Given the description of an element on the screen output the (x, y) to click on. 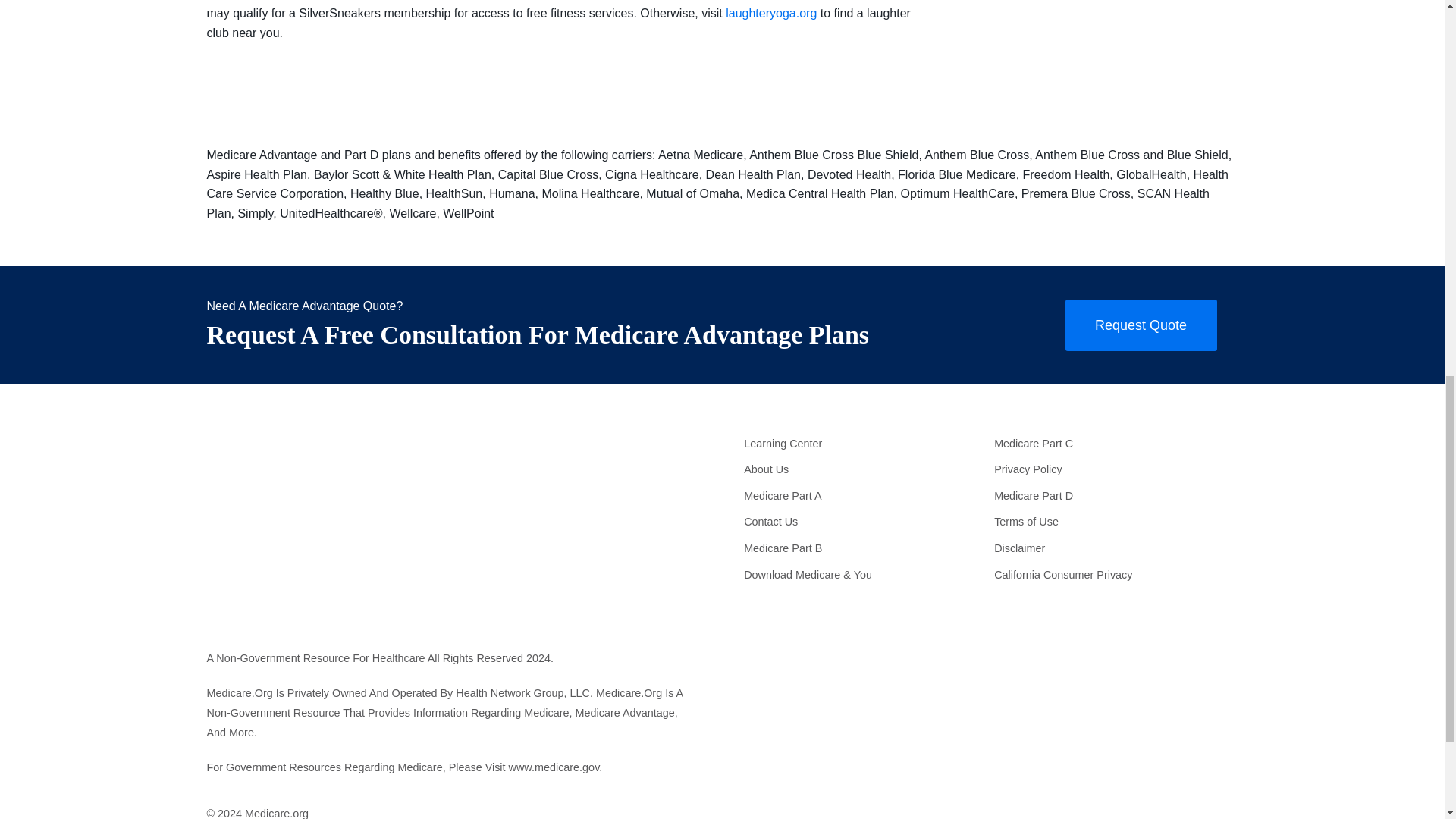
laughteryoga.org (770, 12)
Request Quote (1139, 324)
Learning Center (861, 442)
